Given the description of an element on the screen output the (x, y) to click on. 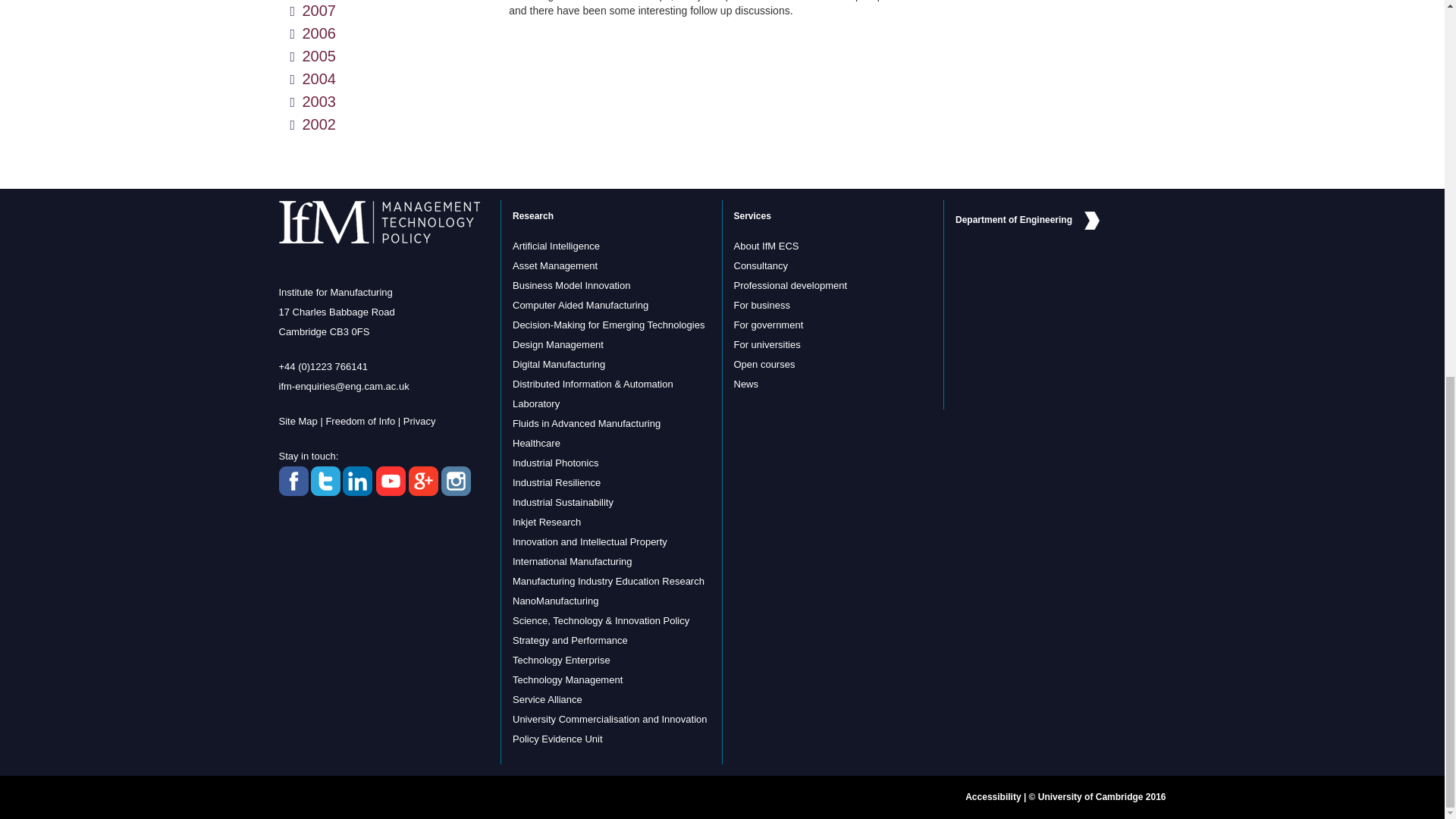
Asset Management (554, 265)
Design Management (558, 344)
Supply Chain AI Lab (555, 245)
Computer Aided Manufacturing (579, 305)
Healthcare (536, 442)
Digital Manufacturing (558, 364)
Industrial Sustainability (562, 501)
Industrial Resilience Research Group (555, 482)
Decision-Making for Emerging Technologies (608, 324)
Distributed Information and Automation Laboratory (592, 393)
Fluids in Advanced Manufacturing (586, 423)
Industrial Photonics (555, 462)
